Given the description of an element on the screen output the (x, y) to click on. 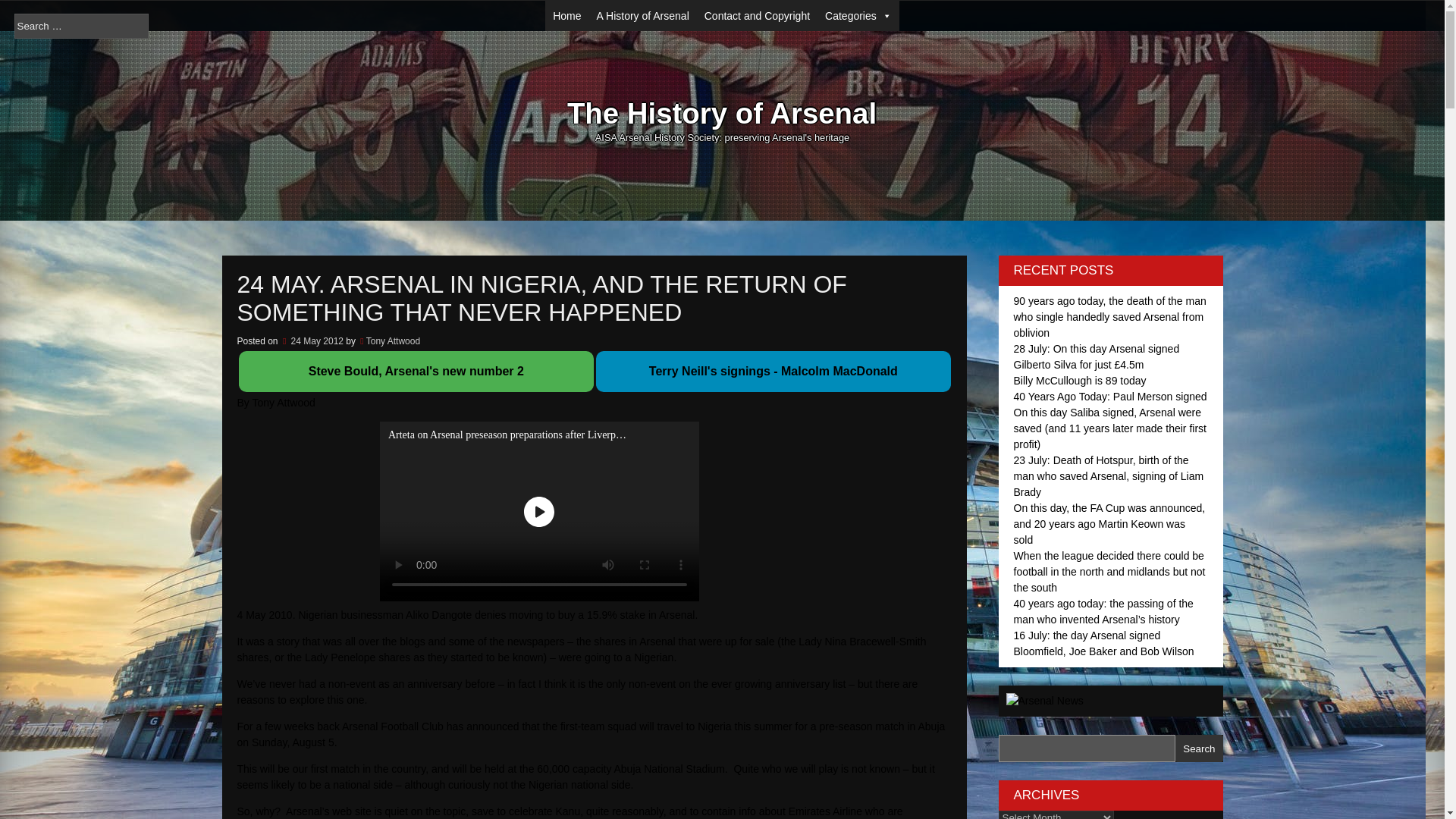
Terry Neill's signings - Malcolm MacDonald (773, 371)
Steve Bould, Arsenal's new number 2 (415, 370)
Steve Bould, Arsenal's new number 2 (416, 371)
A History of Arsenal (643, 15)
The History of Arsenal (721, 113)
Steve Bould, Arsenal's new number 2 (415, 370)
Arsenal News (1044, 700)
Contact and Copyright (756, 15)
Terry Neill's signings - Malcolm MacDonald (773, 370)
Tony Attwood (393, 340)
Categories (857, 15)
Home (566, 15)
Terry Neill's signings - Malcolm MacDonald (773, 370)
24 May 2012 (312, 340)
